Given the description of an element on the screen output the (x, y) to click on. 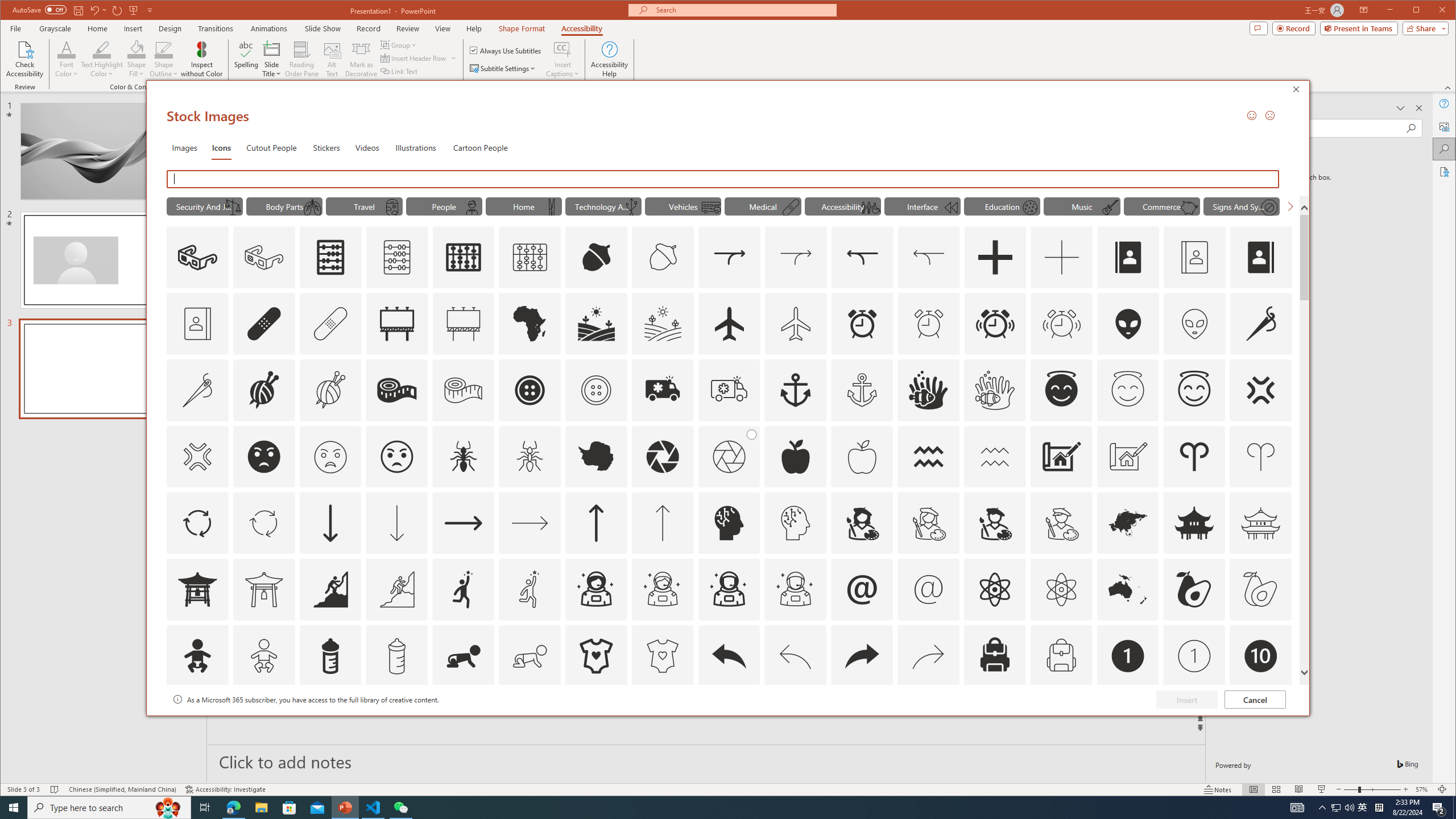
AutomationID: Icons_ArrowCircle_M (263, 522)
Notes  (1217, 789)
AutomationID: Icons (1260, 721)
Mark as Decorative (360, 59)
Microsoft search (742, 10)
Grayscale (55, 28)
Tray Input Indicator - Chinese (Simplified, China) (1378, 807)
AutomationID: Icons_Badge9 (1193, 721)
AutomationID: Icons_Badge5 (662, 721)
AutomationID: Icons_AngryFace_Outline (397, 456)
